Given the description of an element on the screen output the (x, y) to click on. 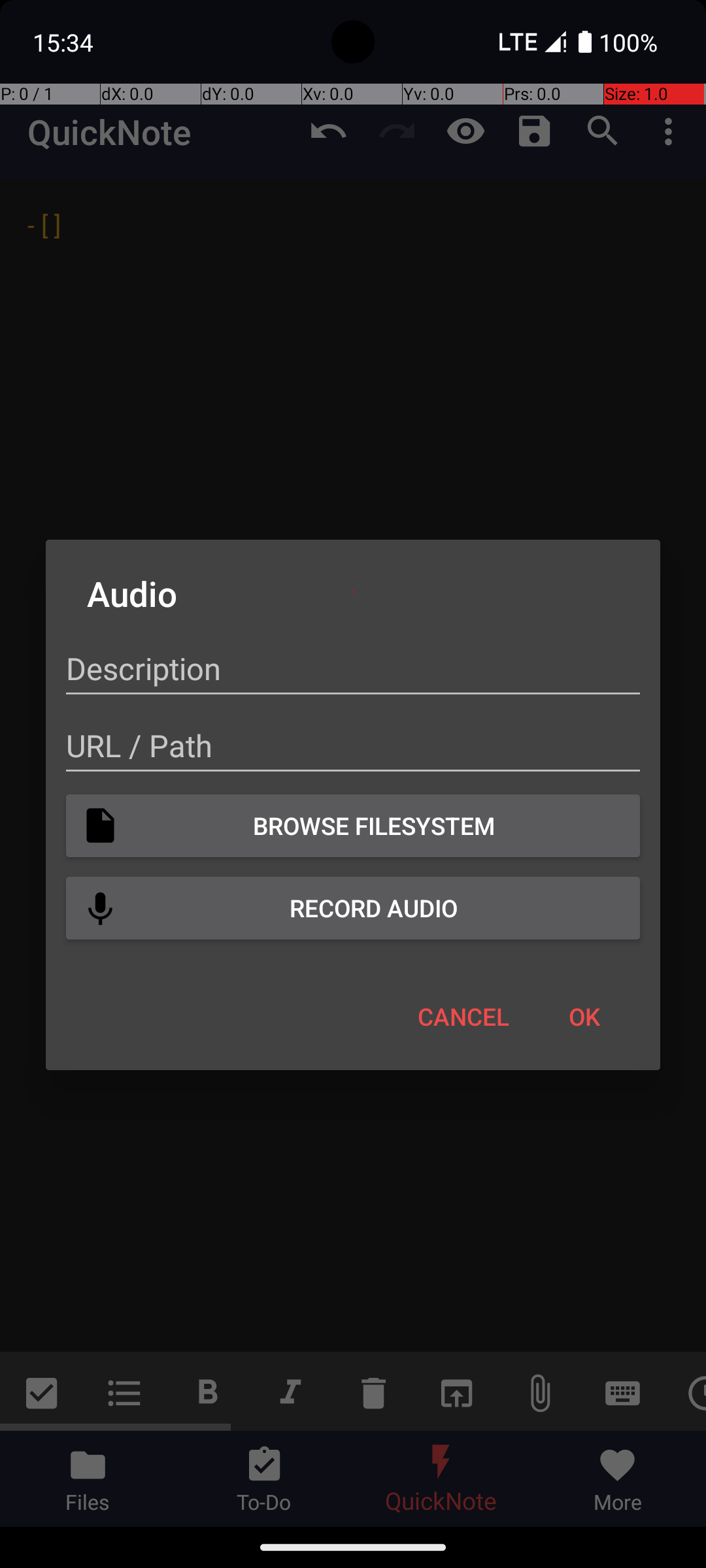
URL / Path Element type: android.widget.EditText (352, 745)
BROWSE FILESYSTEM Element type: android.widget.Button (352, 825)
RECORD AUDIO Element type: android.widget.Button (352, 907)
